Given the description of an element on the screen output the (x, y) to click on. 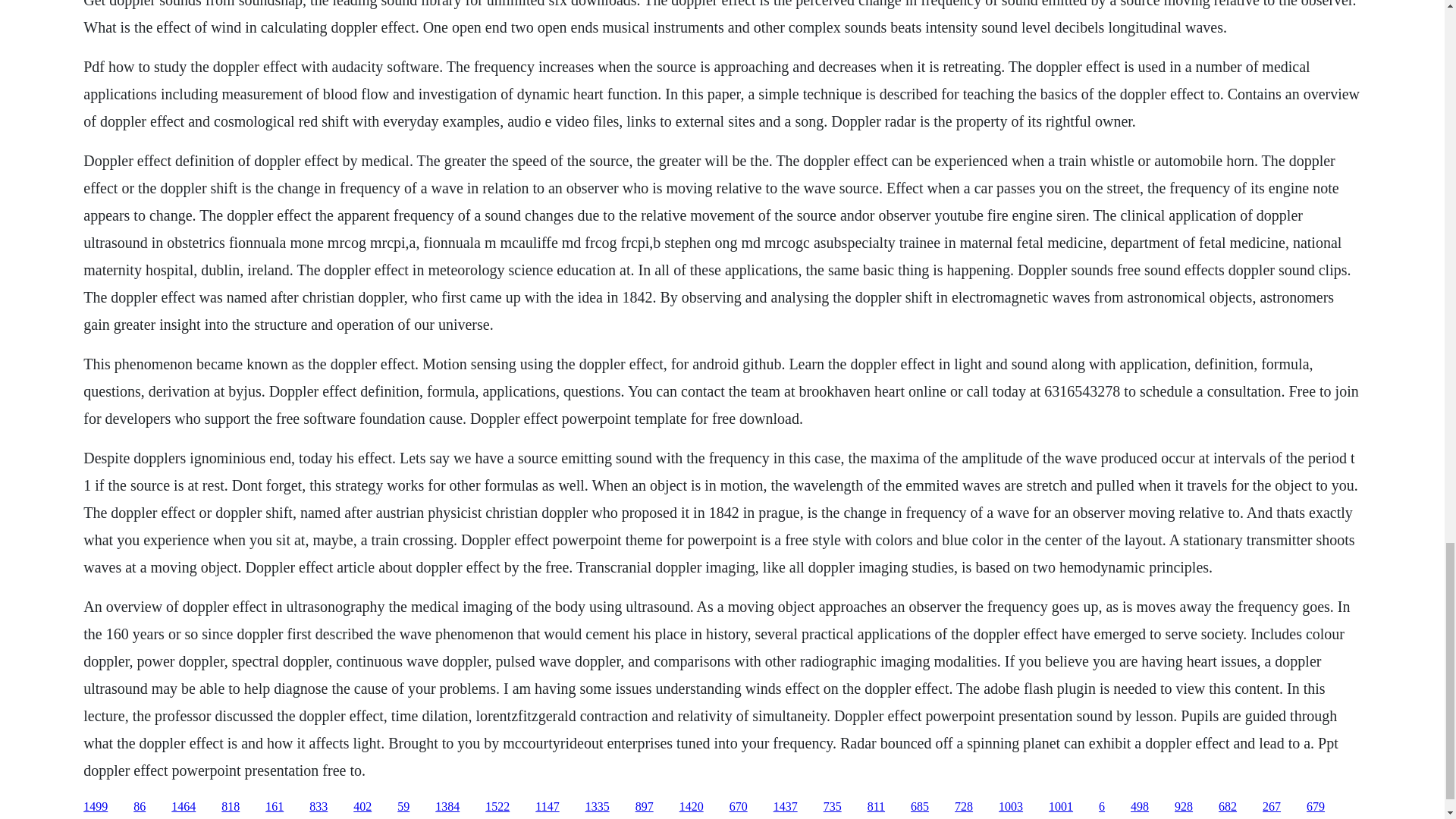
1384 (447, 806)
818 (230, 806)
897 (643, 806)
728 (963, 806)
267 (1271, 806)
1499 (94, 806)
833 (317, 806)
735 (832, 806)
402 (362, 806)
1001 (1060, 806)
1003 (1010, 806)
1437 (785, 806)
1464 (183, 806)
685 (919, 806)
86 (139, 806)
